Given the description of an element on the screen output the (x, y) to click on. 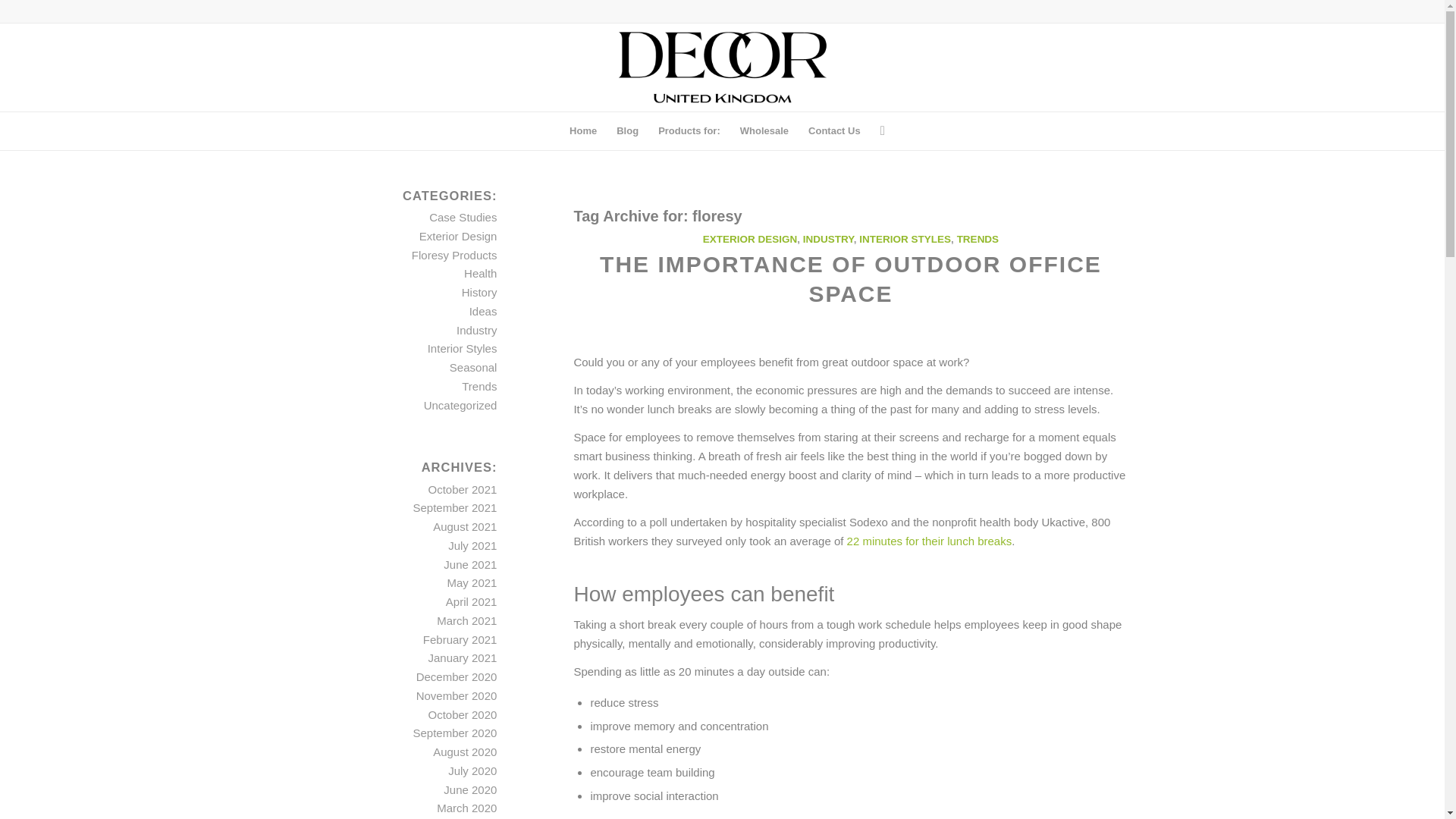
Uncategorized (460, 404)
Trends (478, 386)
Wholesale (763, 130)
June 2021 (470, 563)
INDUSTRY (828, 238)
July 2021 (472, 545)
Health (480, 273)
EXTERIOR DESIGN (750, 238)
Contact Us (833, 130)
August 2021 (464, 526)
October 2021 (462, 489)
Interior Styles (462, 348)
INTERIOR STYLES (904, 238)
22 minutes for their lunch breaks (929, 540)
Floresy Products (454, 254)
